Given the description of an element on the screen output the (x, y) to click on. 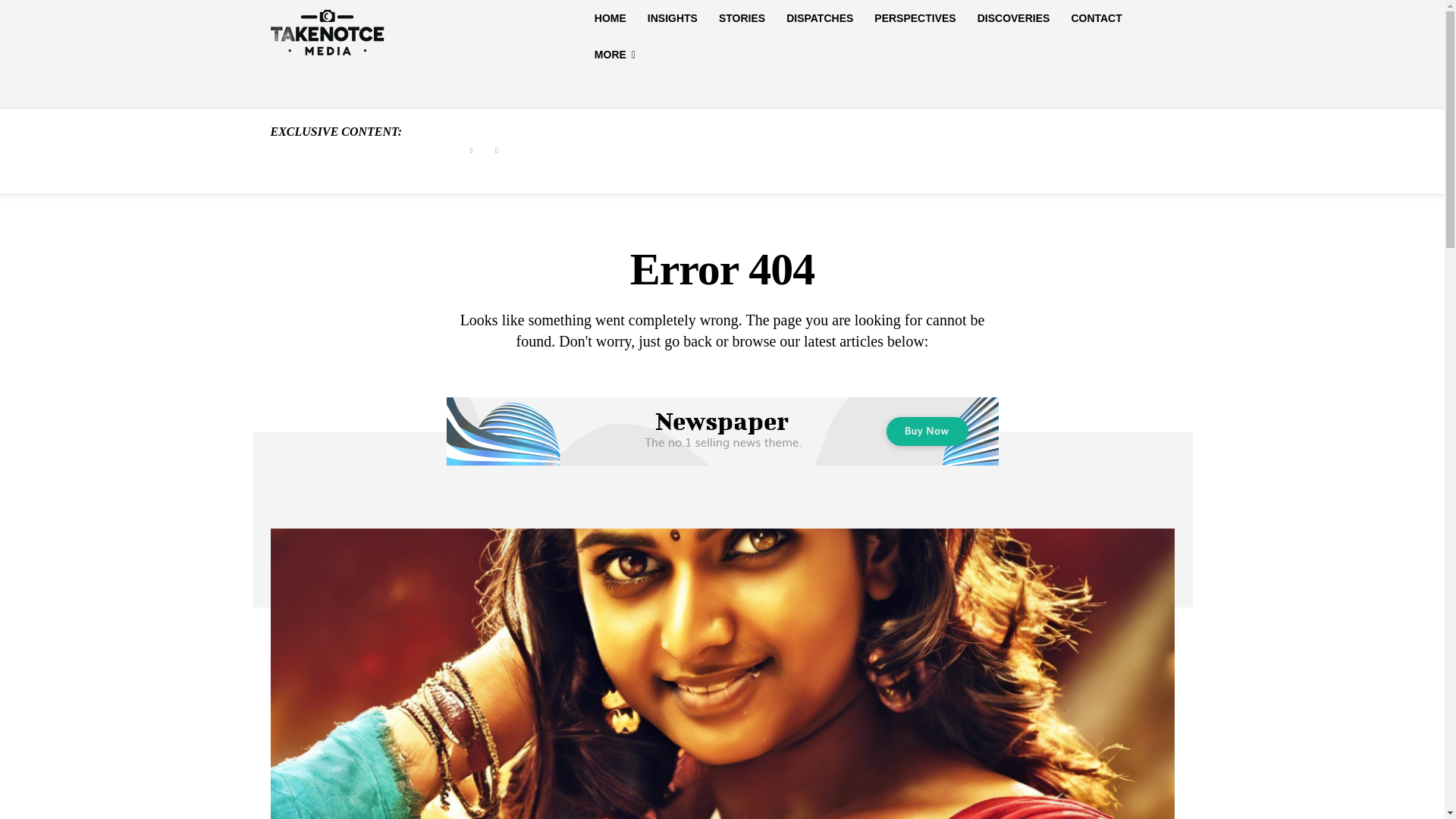
HOME (610, 18)
CONTACT (1095, 18)
DISPATCHES (819, 18)
DISCOVERIES (1013, 18)
PERSPECTIVES (914, 18)
INSIGHTS (672, 18)
MORE (614, 54)
STORIES (741, 18)
